Given the description of an element on the screen output the (x, y) to click on. 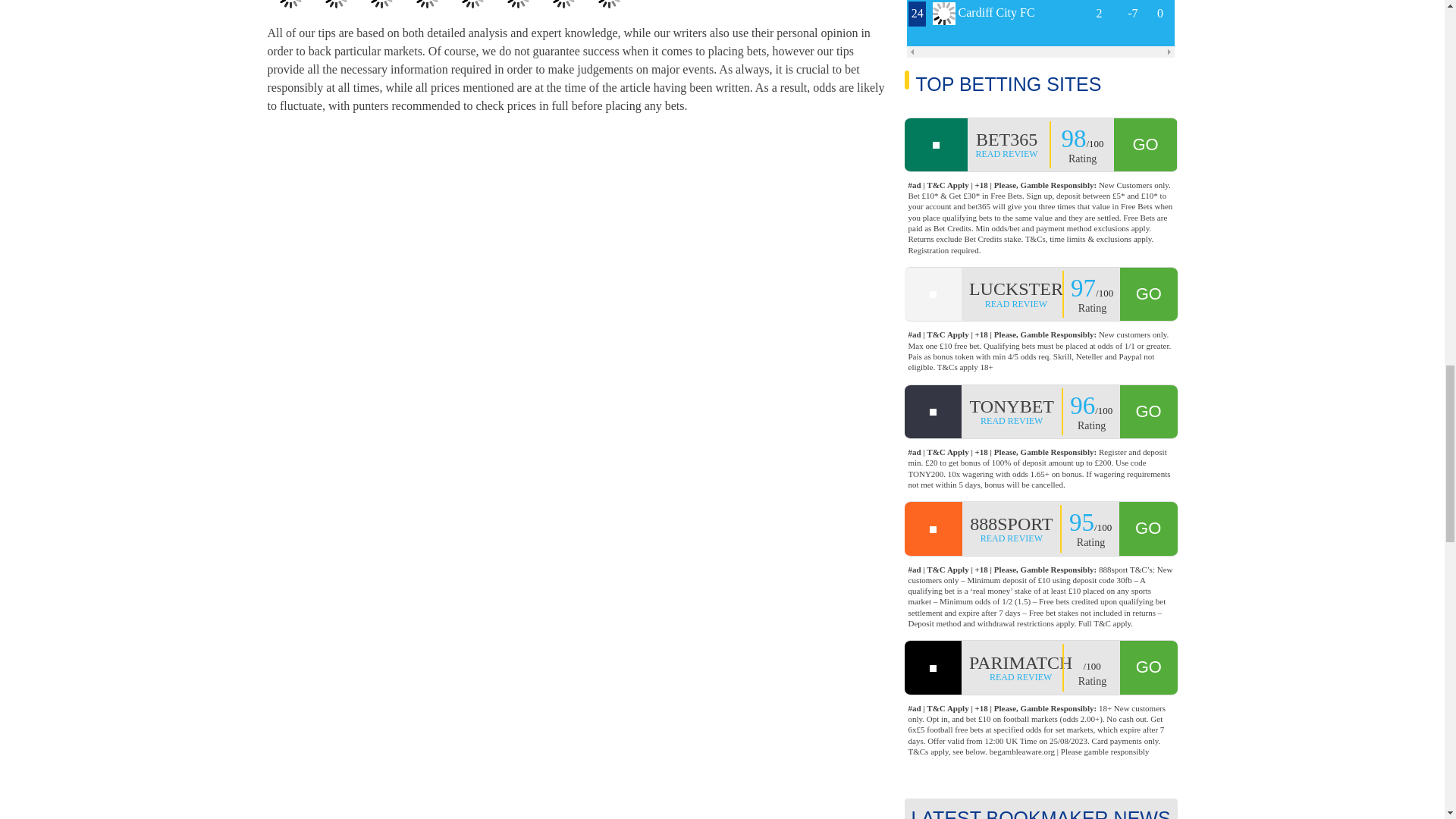
Luton Town - Queens Park Rangers (472, 10)
Sheffield United - Watford FC (336, 10)
Coventry City - Norwich City FC (608, 10)
Millwall FC - Sheffield Wednesday (518, 10)
West Brom - Swansea City AFC (563, 10)
Derby County FC - Bristol City (426, 10)
Leeds United - Hull City (381, 10)
Cardiff City FC - Middlesbrough FC (289, 10)
